Given the description of an element on the screen output the (x, y) to click on. 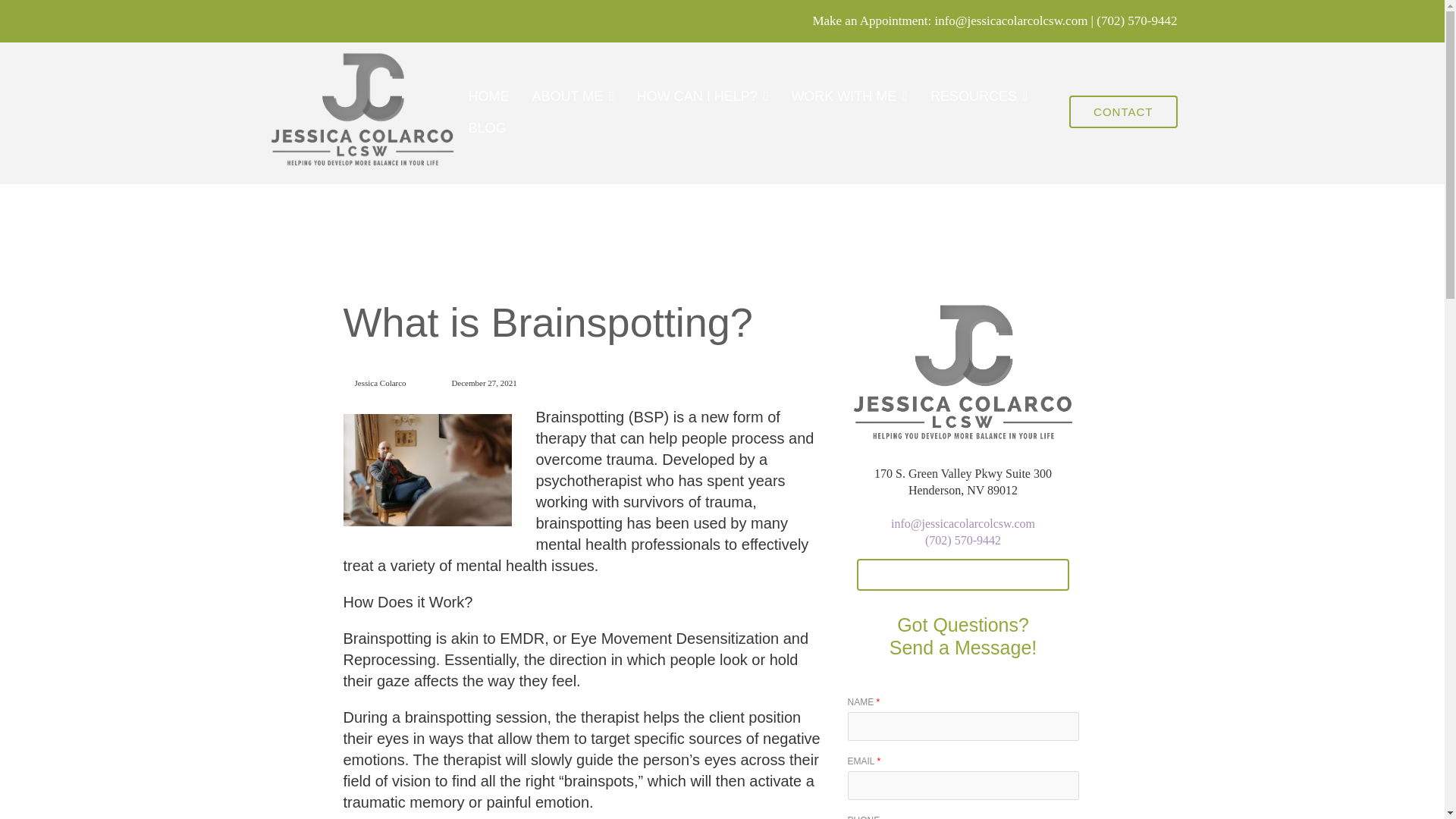
HOME (488, 96)
HOW CAN I HELP? (702, 96)
ABOUT ME (573, 96)
